Given the description of an element on the screen output the (x, y) to click on. 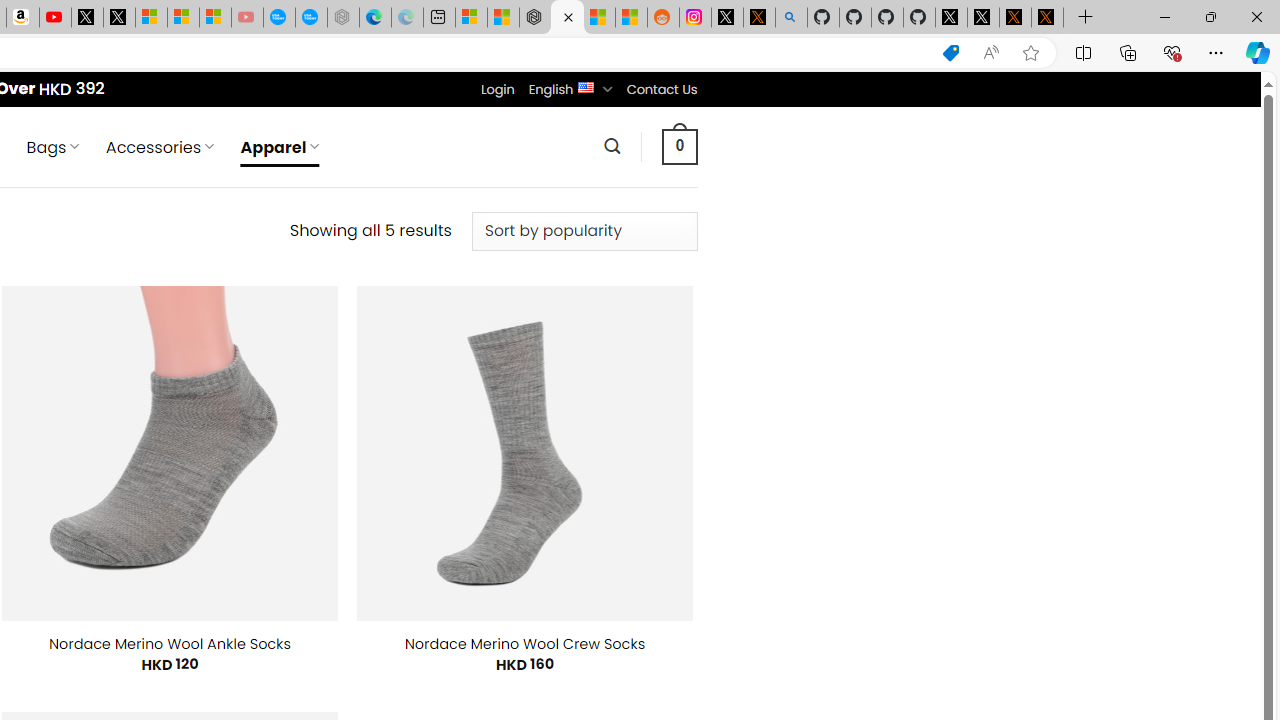
Contact Us (661, 89)
Profile / X (950, 17)
Nordace - Apparel (566, 17)
Microsoft account | Microsoft Account Privacy Settings (471, 17)
  0   (679, 146)
Nordace Merino Wool Crew Socks (525, 643)
